Given the description of an element on the screen output the (x, y) to click on. 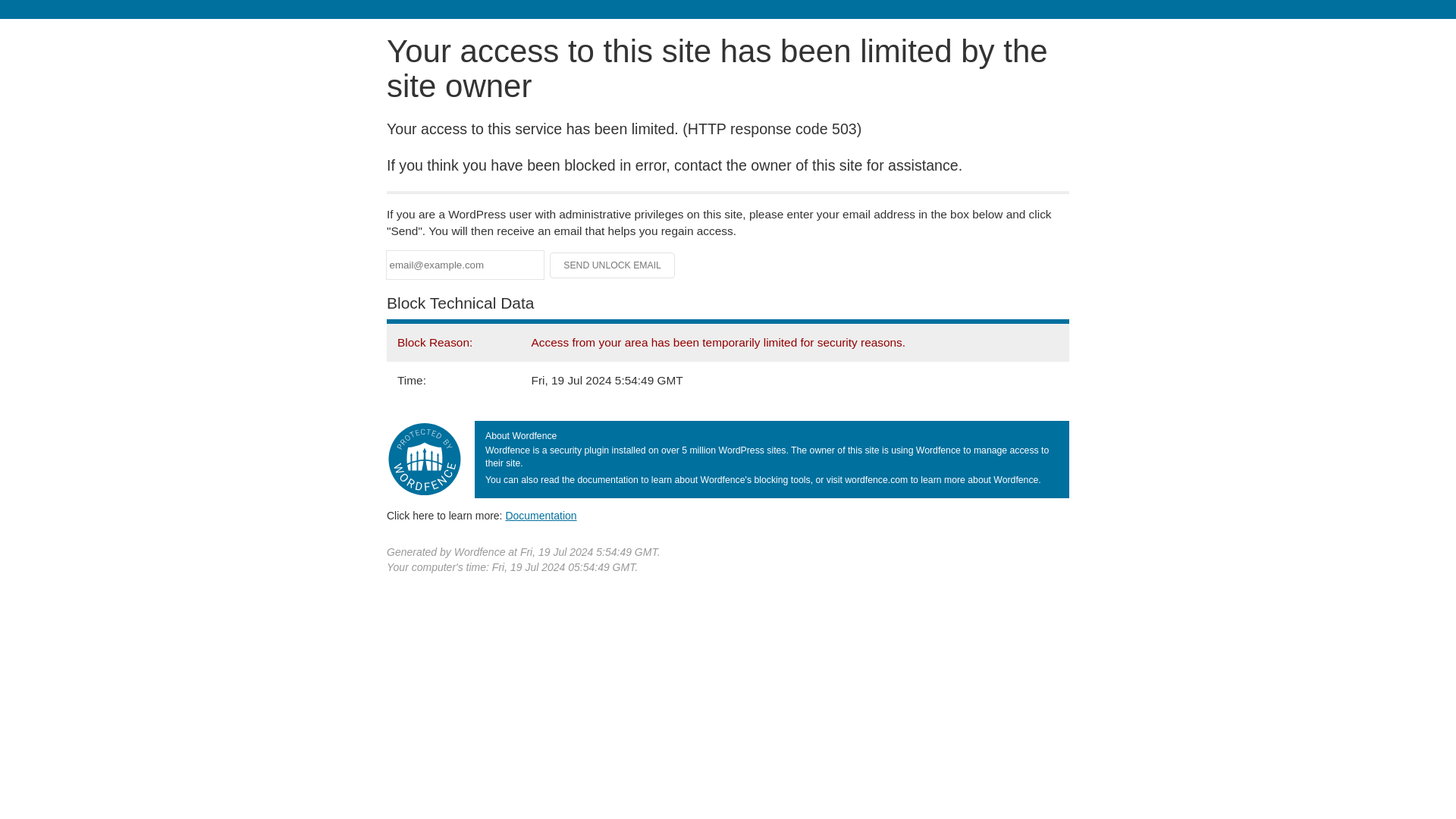
Send Unlock Email (612, 265)
Documentation (540, 515)
Send Unlock Email (612, 265)
